Given the description of an element on the screen output the (x, y) to click on. 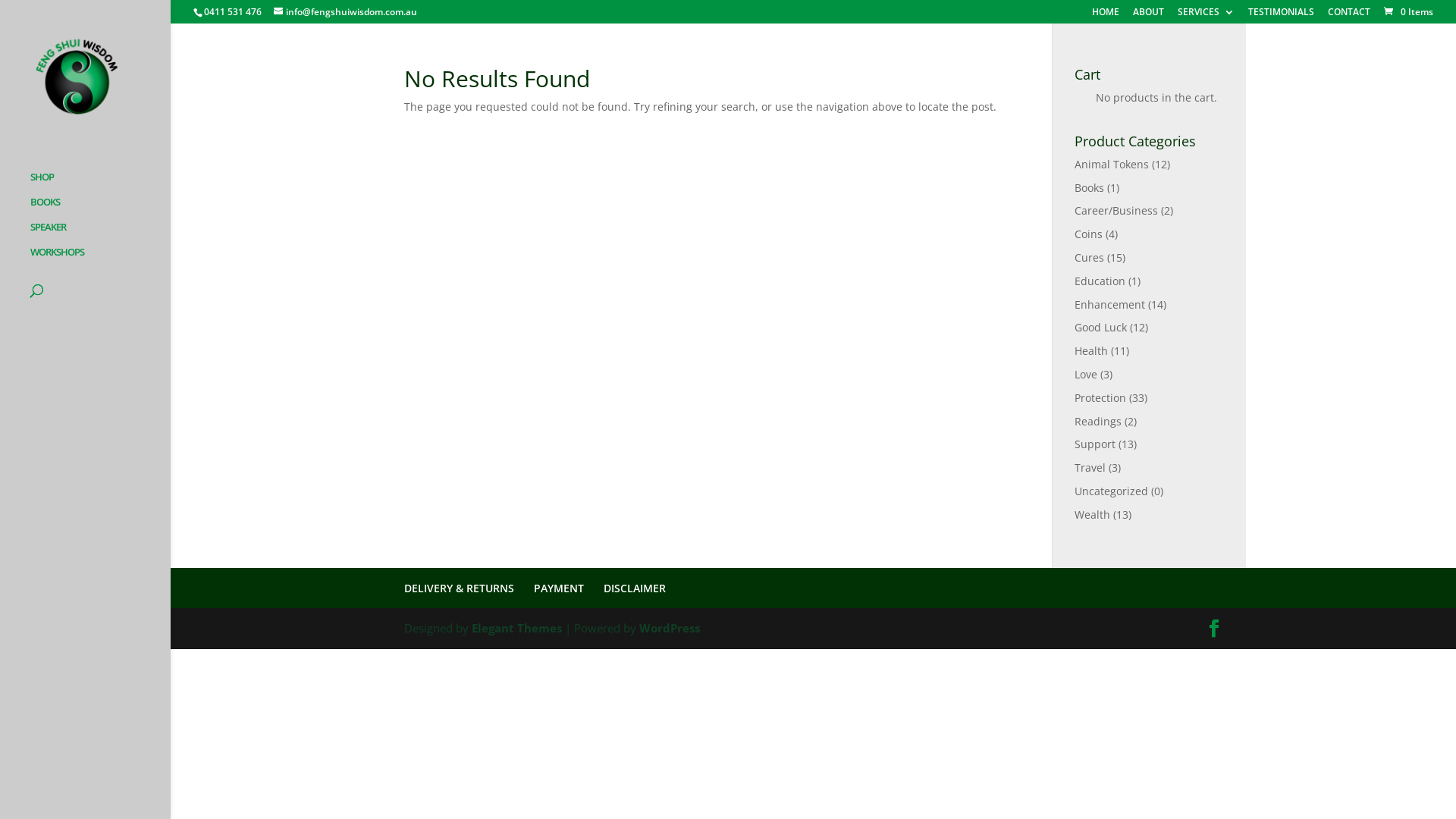
HOME Element type: text (1105, 15)
Travel Element type: text (1089, 467)
0 Items Element type: text (1407, 11)
Career/Business Element type: text (1115, 210)
Love Element type: text (1085, 374)
WordPress Element type: text (668, 627)
PAYMENT Element type: text (558, 587)
DISCLAIMER Element type: text (634, 587)
Protection Element type: text (1100, 397)
BOOKS Element type: text (100, 208)
SERVICES Element type: text (1205, 15)
0411 531 476 Element type: text (232, 11)
TESTIMONIALS Element type: text (1281, 15)
SPEAKER Element type: text (100, 233)
WORKSHOPS Element type: text (100, 258)
Uncategorized Element type: text (1111, 490)
Coins Element type: text (1088, 233)
SHOP Element type: text (100, 183)
info@fengshuiwisdom.com.au Element type: text (345, 11)
Support Element type: text (1094, 443)
Good Luck Element type: text (1100, 327)
Enhancement Element type: text (1109, 304)
DELIVERY & RETURNS Element type: text (458, 587)
CONTACT Element type: text (1348, 15)
Elegant Themes Element type: text (516, 627)
ABOUT Element type: text (1148, 15)
Health Element type: text (1090, 350)
Books Element type: text (1089, 187)
Wealth Element type: text (1092, 514)
Animal Tokens Element type: text (1111, 163)
Readings Element type: text (1097, 421)
Education Element type: text (1099, 280)
Cures Element type: text (1089, 257)
